Given the description of an element on the screen output the (x, y) to click on. 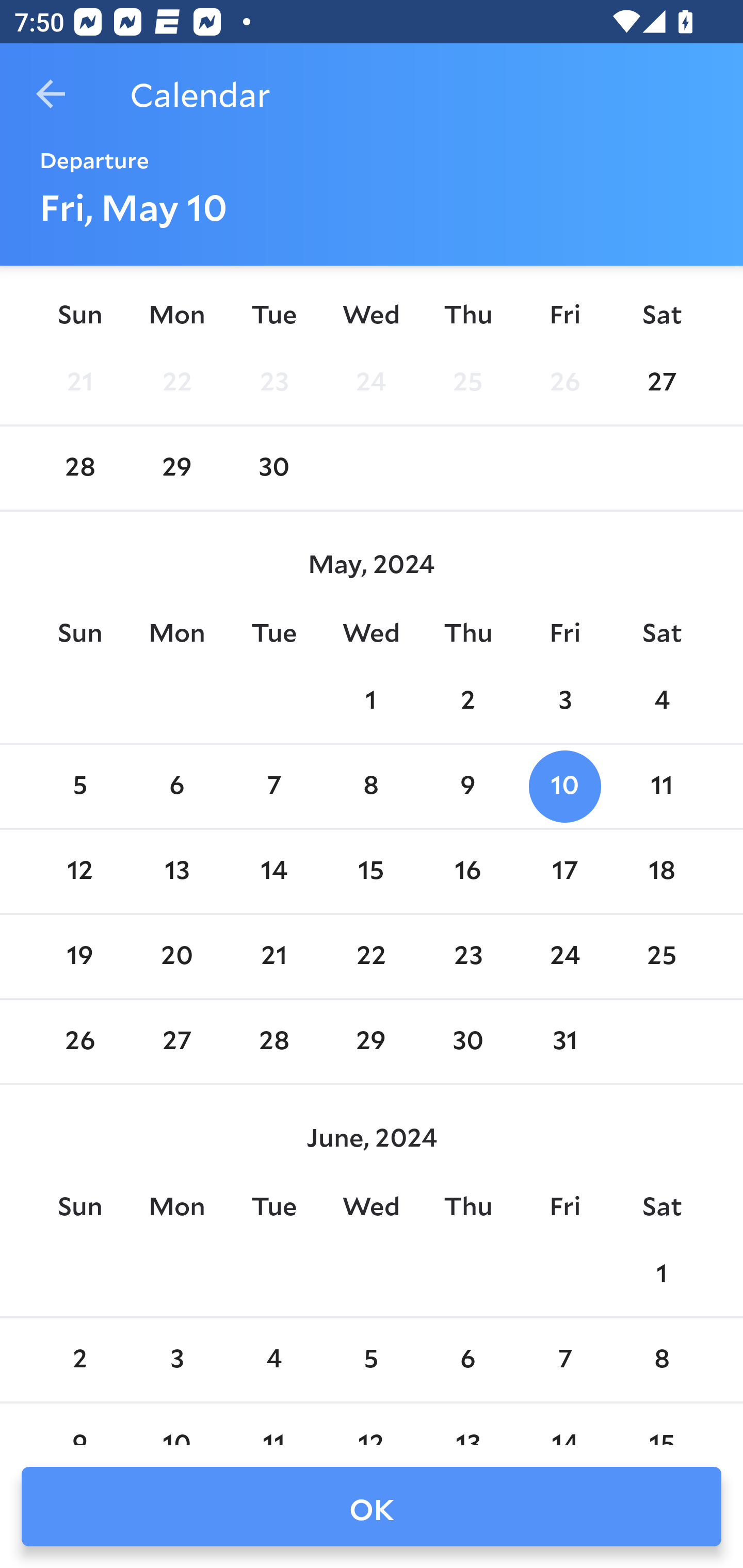
Navigate up (50, 93)
21 (79, 382)
22 (177, 382)
23 (273, 382)
24 (371, 382)
25 (467, 382)
26 (565, 382)
27 (661, 382)
28 (79, 468)
29 (177, 468)
30 (273, 468)
1 (371, 700)
2 (467, 700)
3 (565, 700)
4 (661, 700)
5 (79, 787)
6 (177, 787)
7 (273, 787)
8 (371, 787)
9 (467, 787)
10 (565, 787)
11 (661, 787)
12 (79, 871)
13 (177, 871)
14 (273, 871)
15 (371, 871)
16 (467, 871)
17 (565, 871)
18 (661, 871)
19 (79, 956)
20 (177, 956)
21 (273, 956)
22 (371, 956)
23 (467, 956)
24 (565, 956)
25 (661, 956)
26 (79, 1041)
27 (177, 1041)
28 (273, 1041)
29 (371, 1041)
30 (467, 1041)
31 (565, 1041)
1 (661, 1274)
2 (79, 1359)
3 (177, 1359)
4 (273, 1359)
5 (371, 1359)
6 (467, 1359)
7 (565, 1359)
8 (661, 1359)
